Given the description of an element on the screen output the (x, y) to click on. 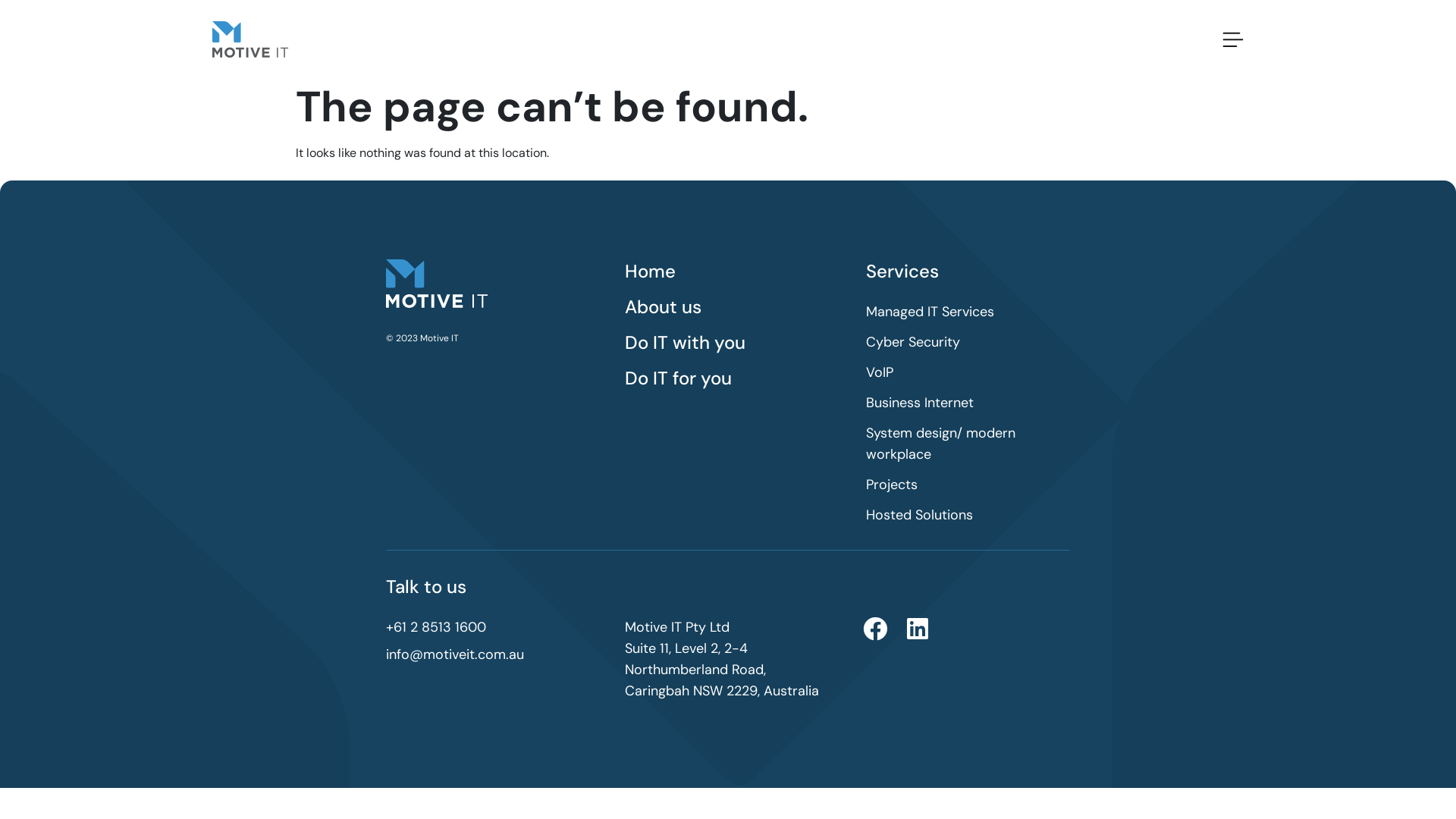
Business Internet Element type: text (966, 402)
Projects Element type: text (966, 484)
Cyber Security Element type: text (966, 341)
System design/ modern workplace Element type: text (966, 443)
About us Element type: text (737, 306)
Home Element type: text (737, 270)
+61 2 8513 1600 Element type: text (497, 626)
Do IT with you Element type: text (737, 342)
Services Element type: text (966, 270)
info@motiveit.com.au Element type: text (497, 654)
Do IT for you Element type: text (737, 377)
VoIP Element type: text (966, 371)
Hosted Solutions Element type: text (966, 514)
Managed IT Services Element type: text (966, 311)
